Given the description of an element on the screen output the (x, y) to click on. 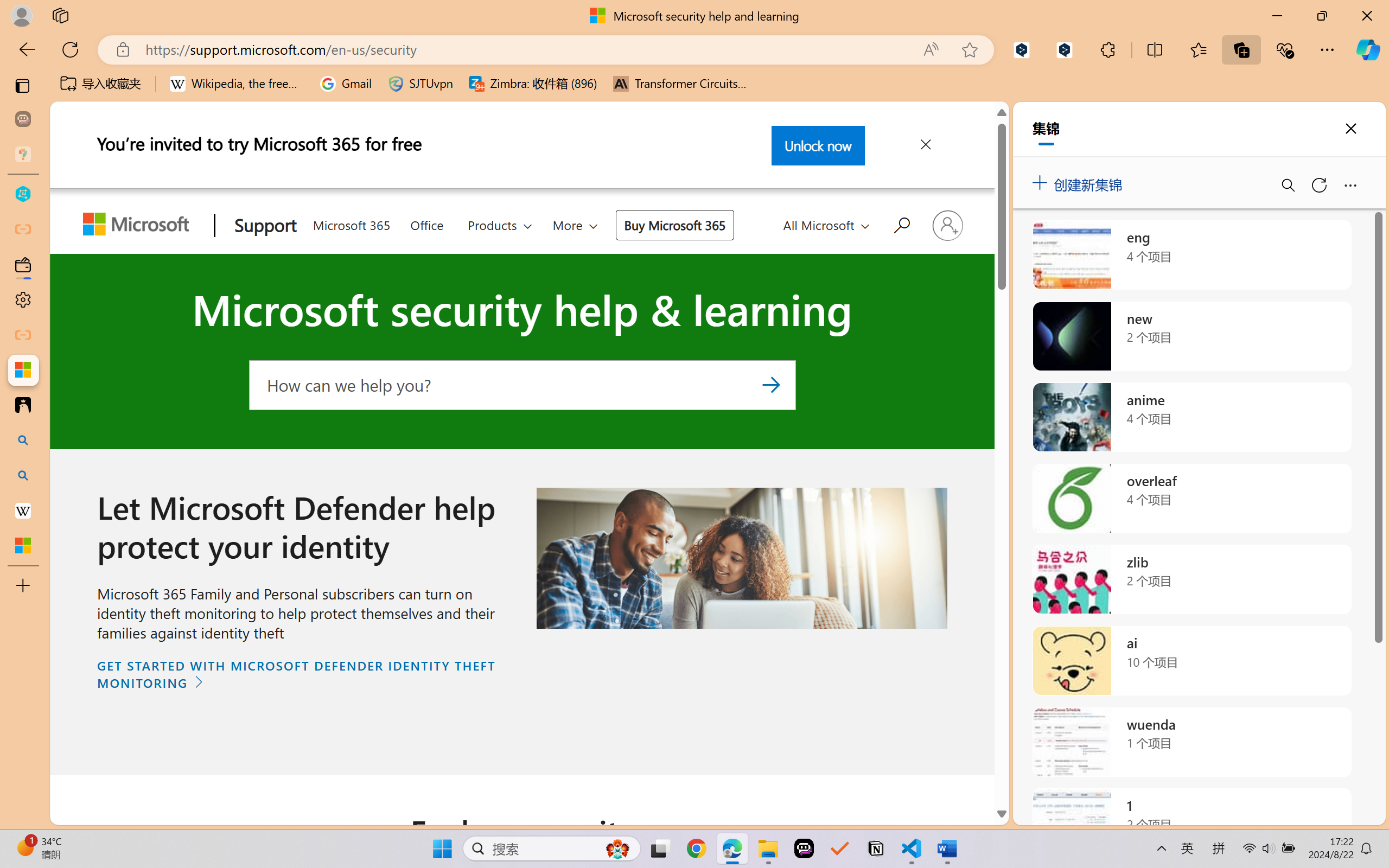
Office (426, 222)
Buy Microsoft 365 (673, 225)
How can we help you? (521, 384)
Transformer Circuits Thread (680, 83)
Search for help (900, 223)
Gmail (345, 83)
